Given the description of an element on the screen output the (x, y) to click on. 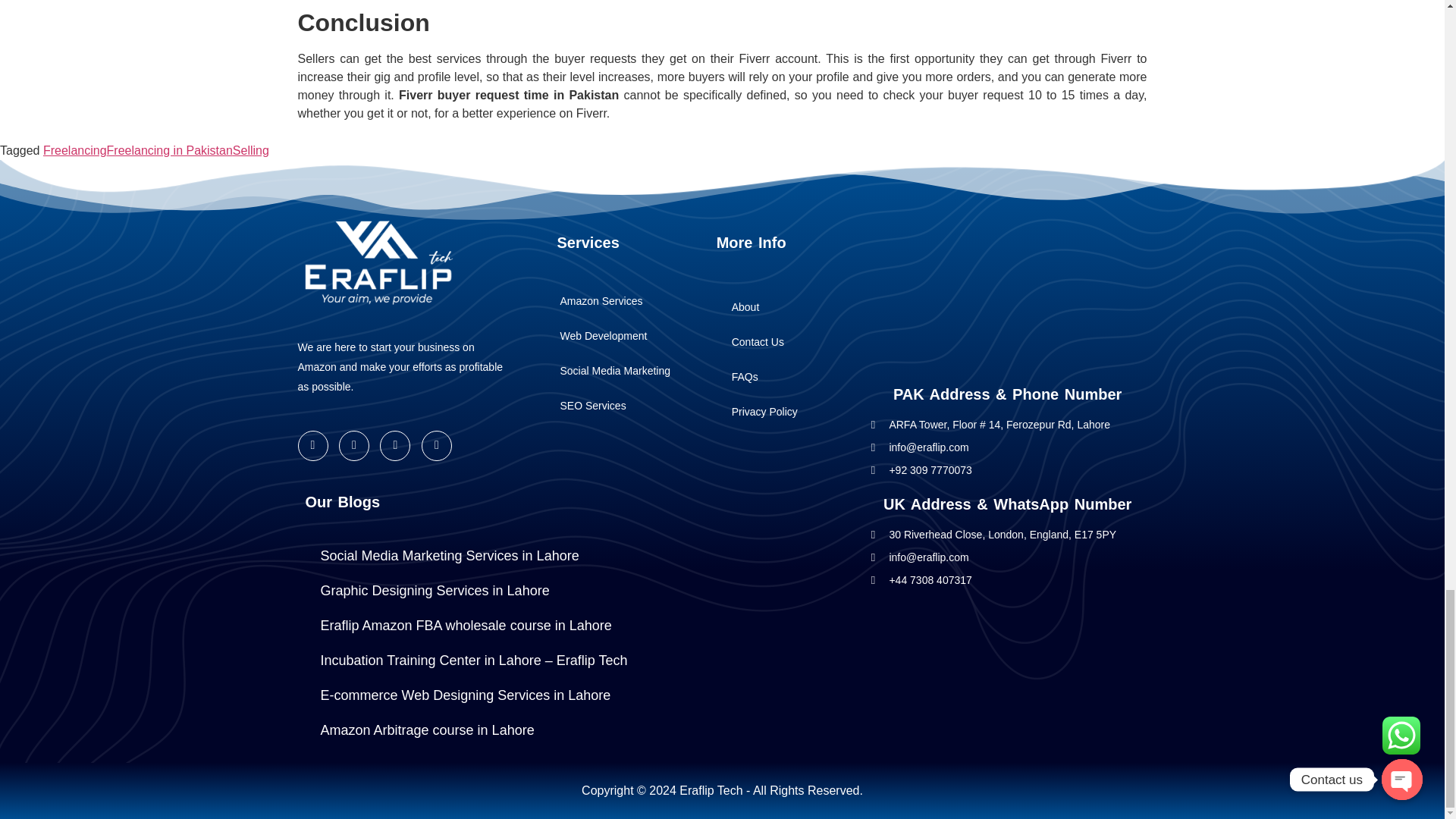
Eraflip Amazon FBA wholesale course in Lahore (465, 625)
Graphic Designing Services in Lahore (434, 590)
Freelancing in Pakistan (169, 150)
Freelancing (74, 150)
Selling (250, 150)
Amazon Arbitrage course in Lahore (426, 729)
E-commerce Web Designing Services in Lahore (465, 695)
Social Media Marketing Services in Lahore (449, 555)
